Given the description of an element on the screen output the (x, y) to click on. 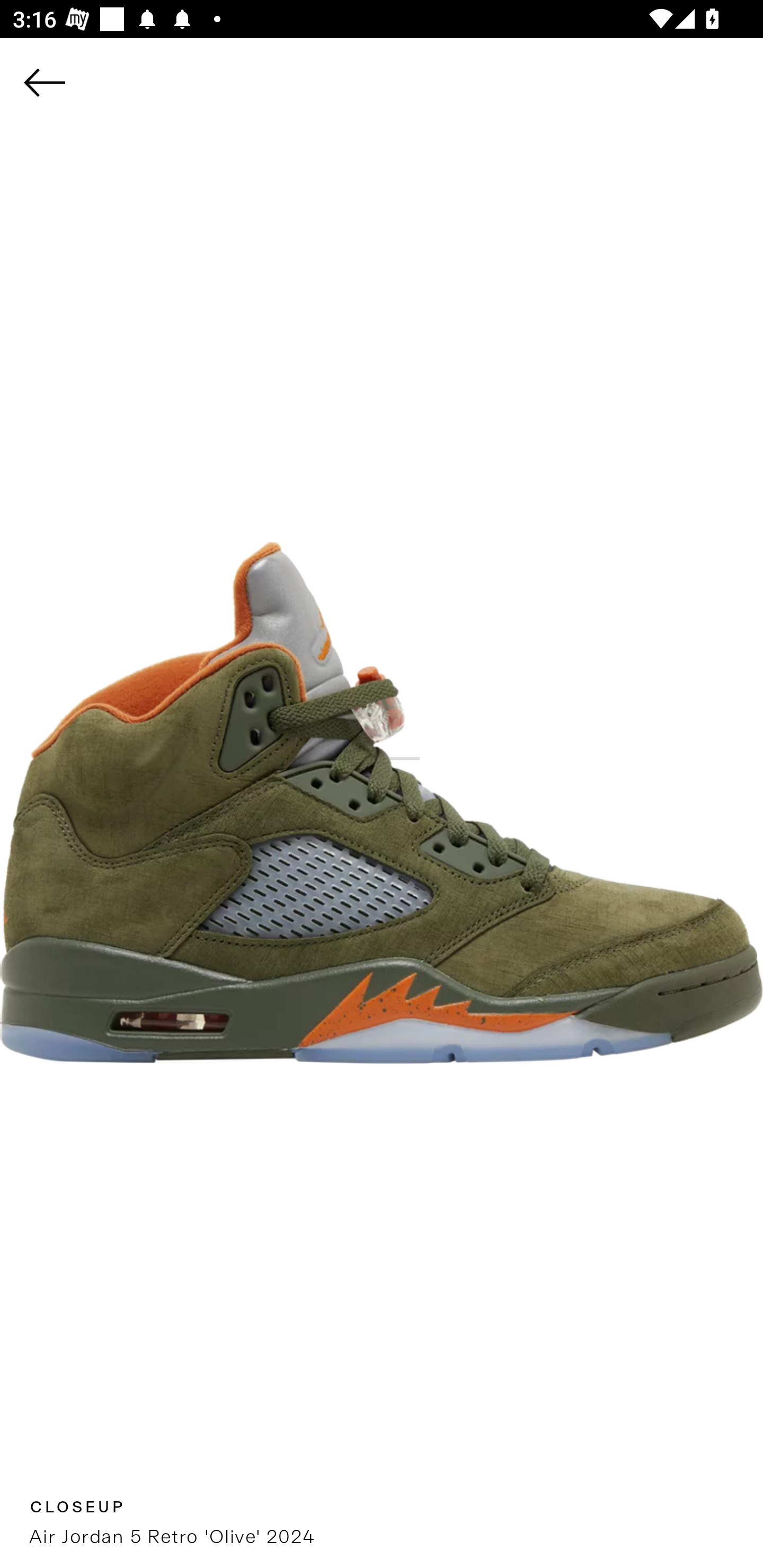
Navigate up (44, 82)
